Given the description of an element on the screen output the (x, y) to click on. 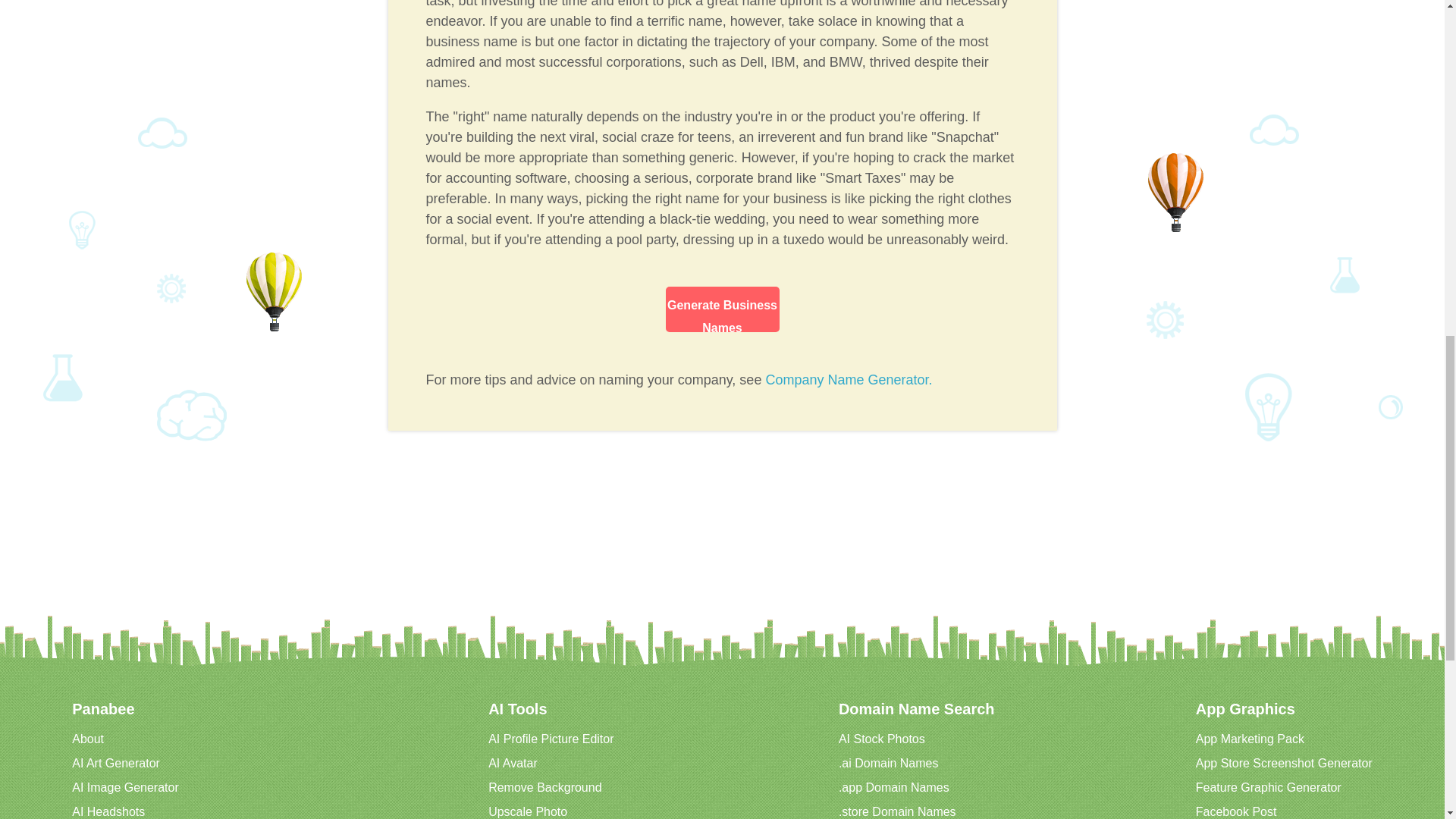
About (87, 738)
AI Headshots (107, 811)
AI Image Generator (125, 787)
AI Profile Picture Editor (549, 738)
AI Avatar (512, 762)
AI Art Generator (115, 762)
Company Name Generator. (848, 379)
Upscale Photo (527, 811)
Generate Business Names (721, 309)
Remove Background (544, 787)
